Given the description of an element on the screen output the (x, y) to click on. 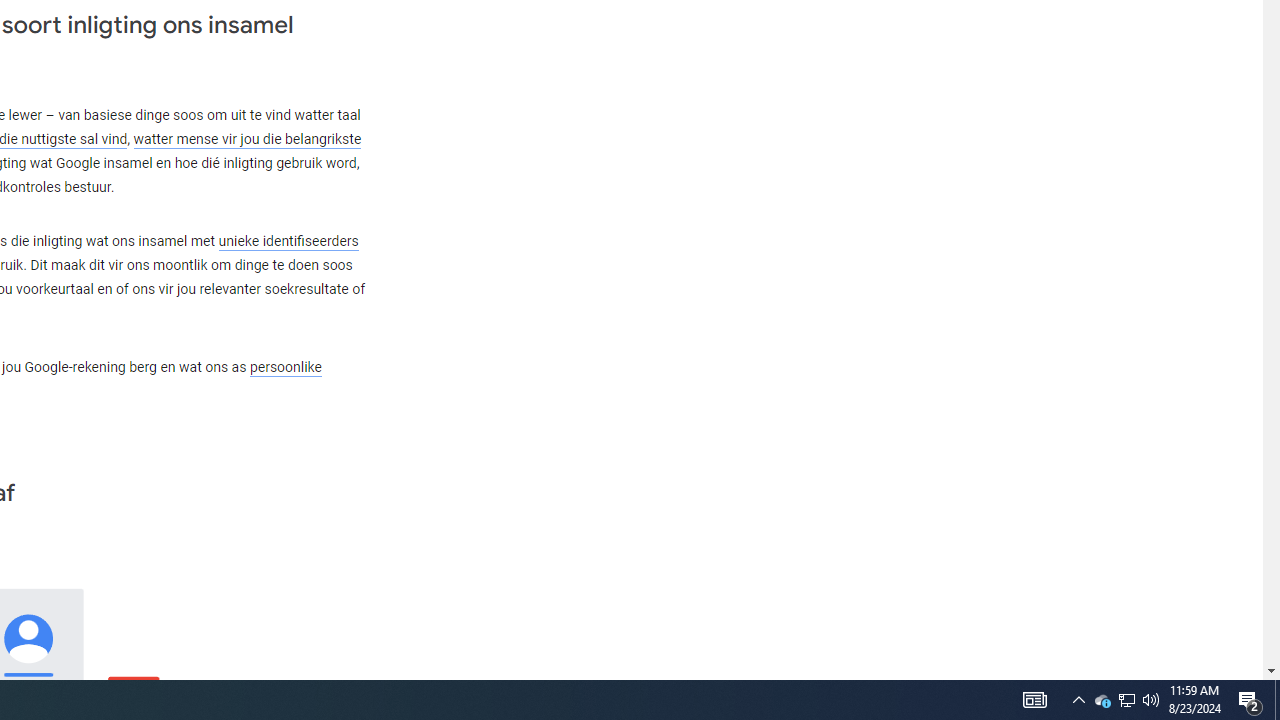
unieke identifiseerders (287, 241)
